Given the description of an element on the screen output the (x, y) to click on. 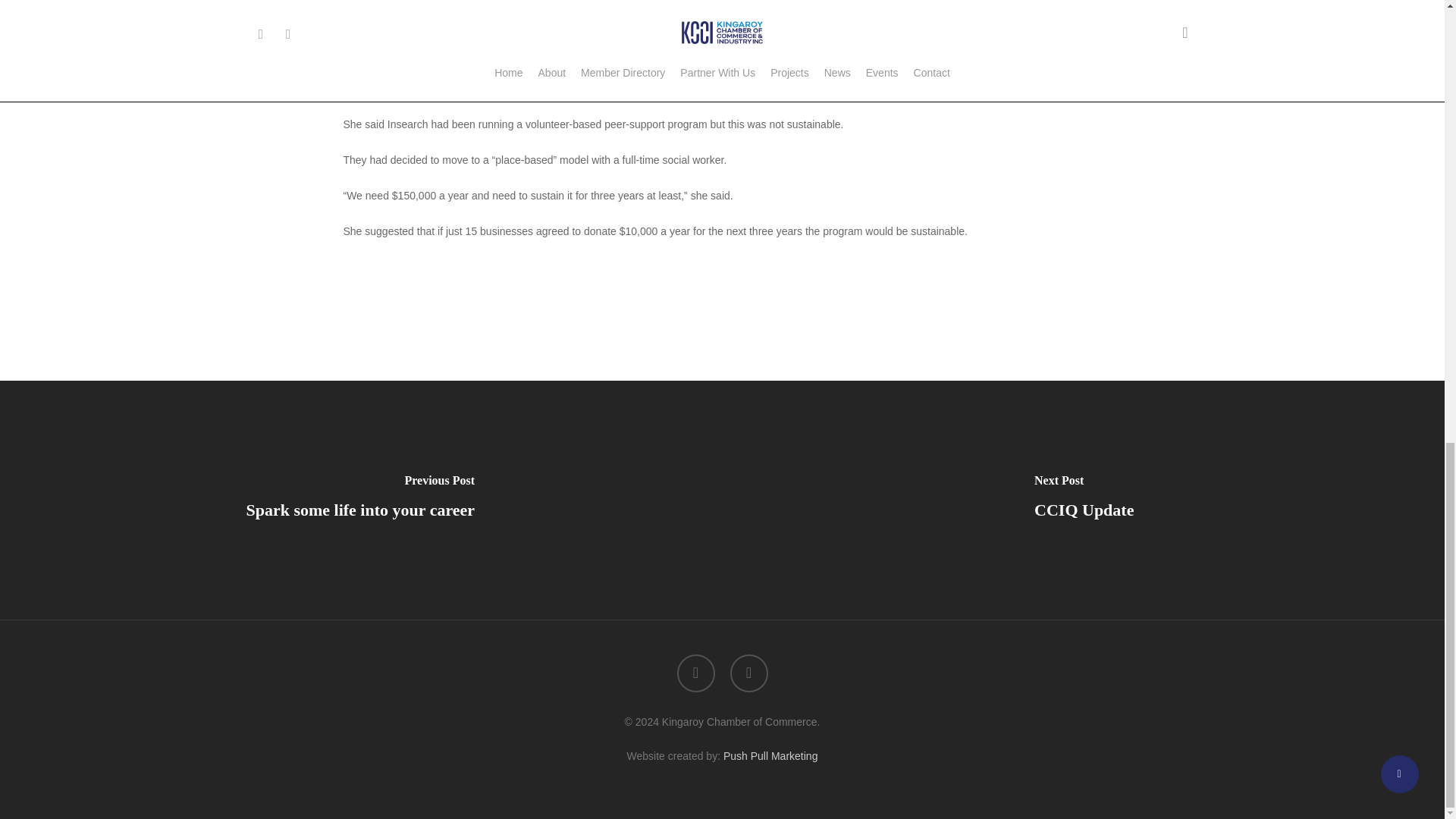
email (748, 673)
Push Pull Marketing (770, 756)
facebook (695, 673)
